Given the description of an element on the screen output the (x, y) to click on. 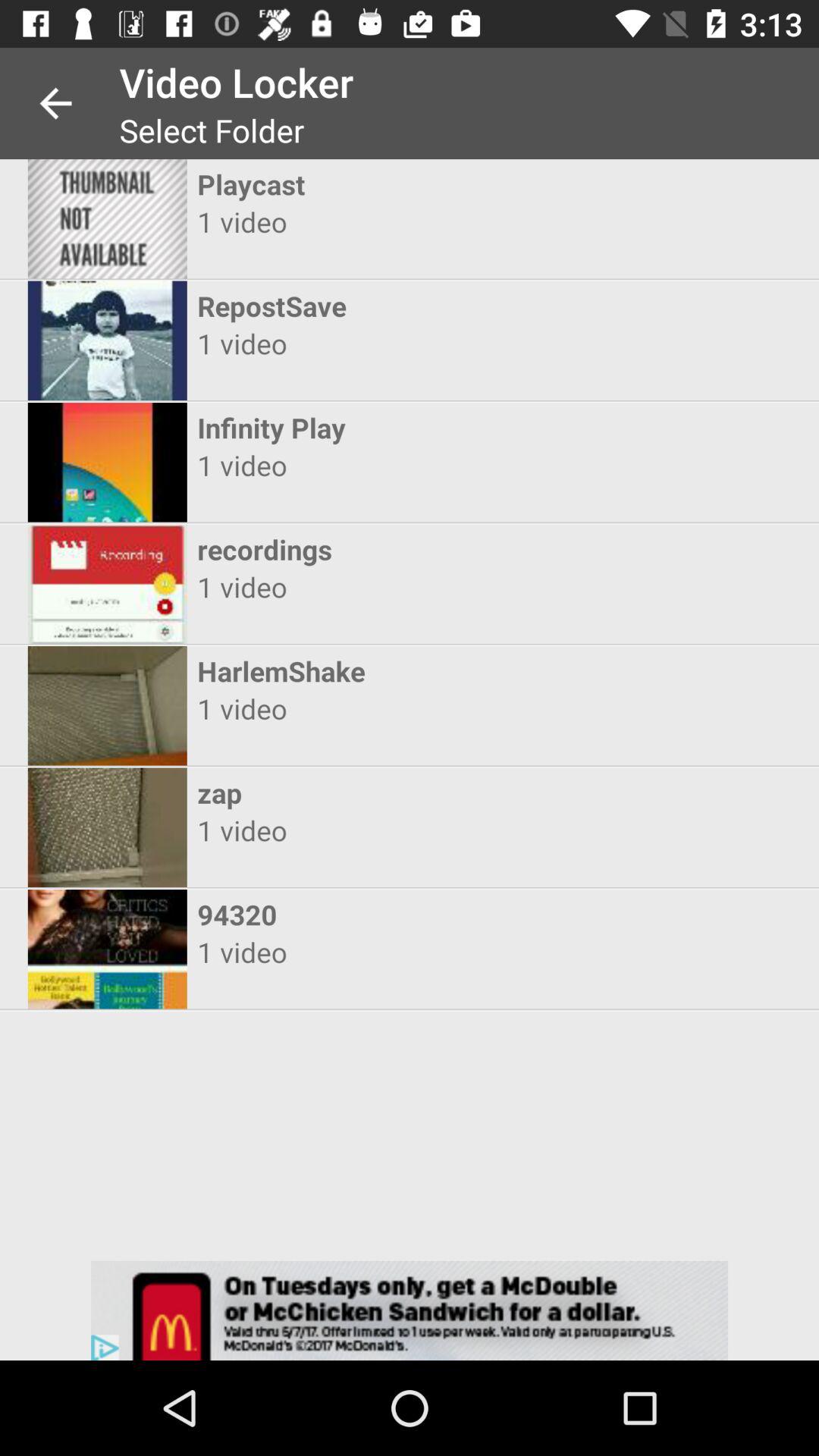
go down (409, 1310)
